Given the description of an element on the screen output the (x, y) to click on. 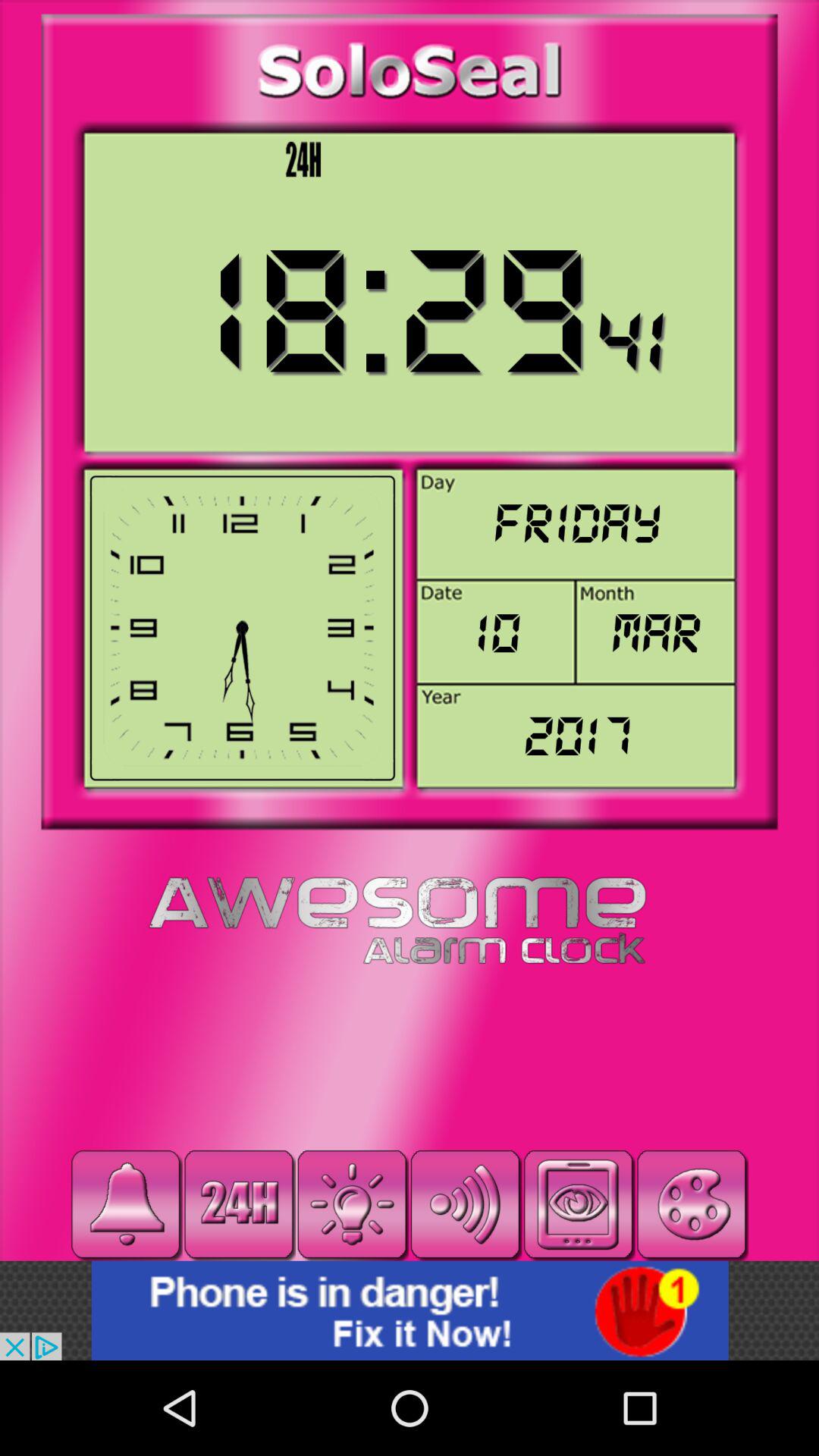
paint (691, 1203)
